Given the description of an element on the screen output the (x, y) to click on. 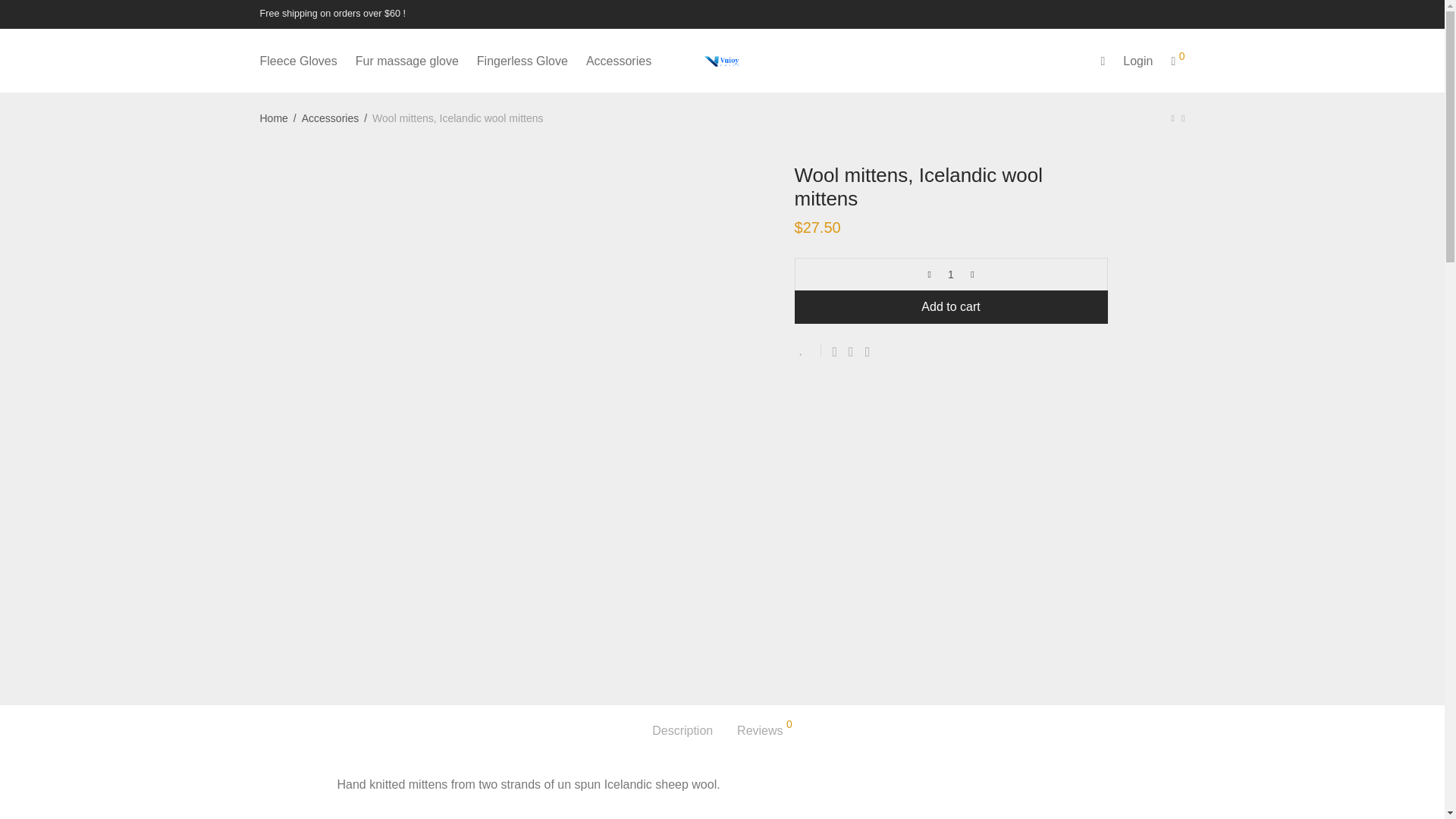
Accessories (329, 117)
Description (682, 731)
Login (1137, 61)
Reviews 0 (764, 731)
Home (272, 117)
Add to Wishlist (807, 349)
Fingerless Glove (521, 61)
Fur massage glove (406, 61)
Fleece Gloves (298, 61)
Accessories (618, 61)
Add to cart (951, 306)
